Given the description of an element on the screen output the (x, y) to click on. 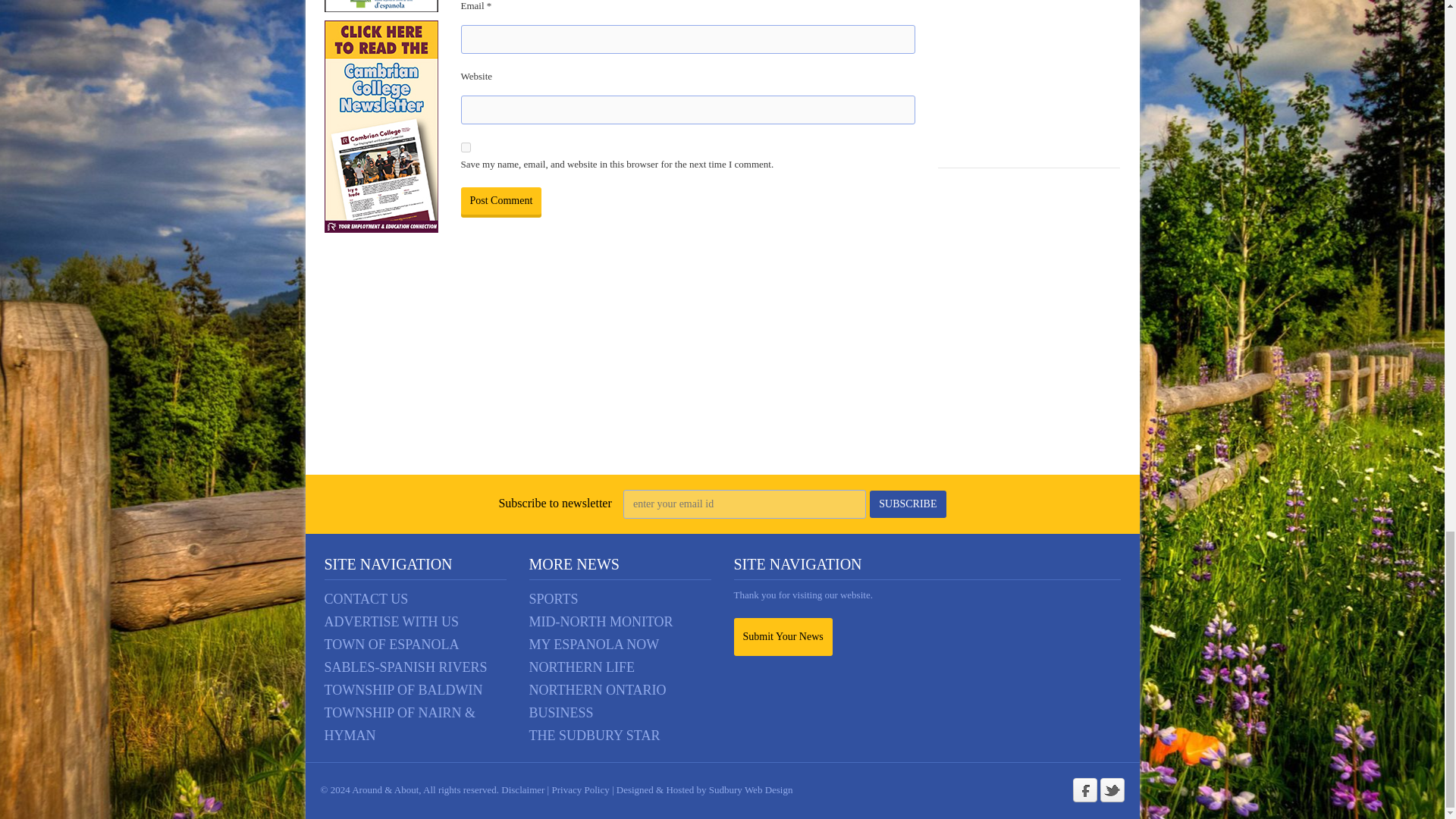
Post Comment (501, 200)
SUBSCRIBE (906, 503)
Post Comment (501, 200)
yes (465, 147)
